Given the description of an element on the screen output the (x, y) to click on. 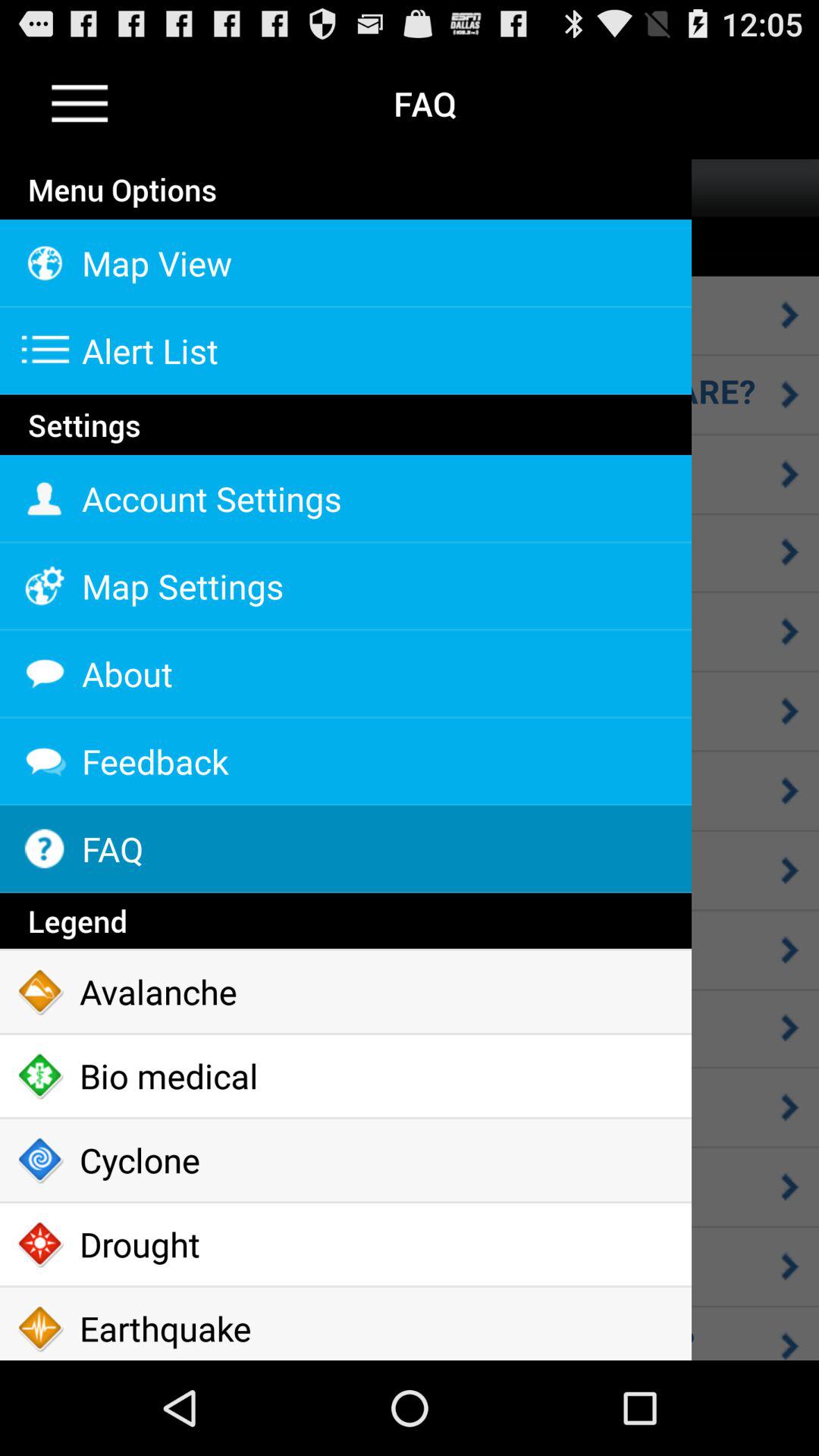
toggle the main menu (79, 103)
